Given the description of an element on the screen output the (x, y) to click on. 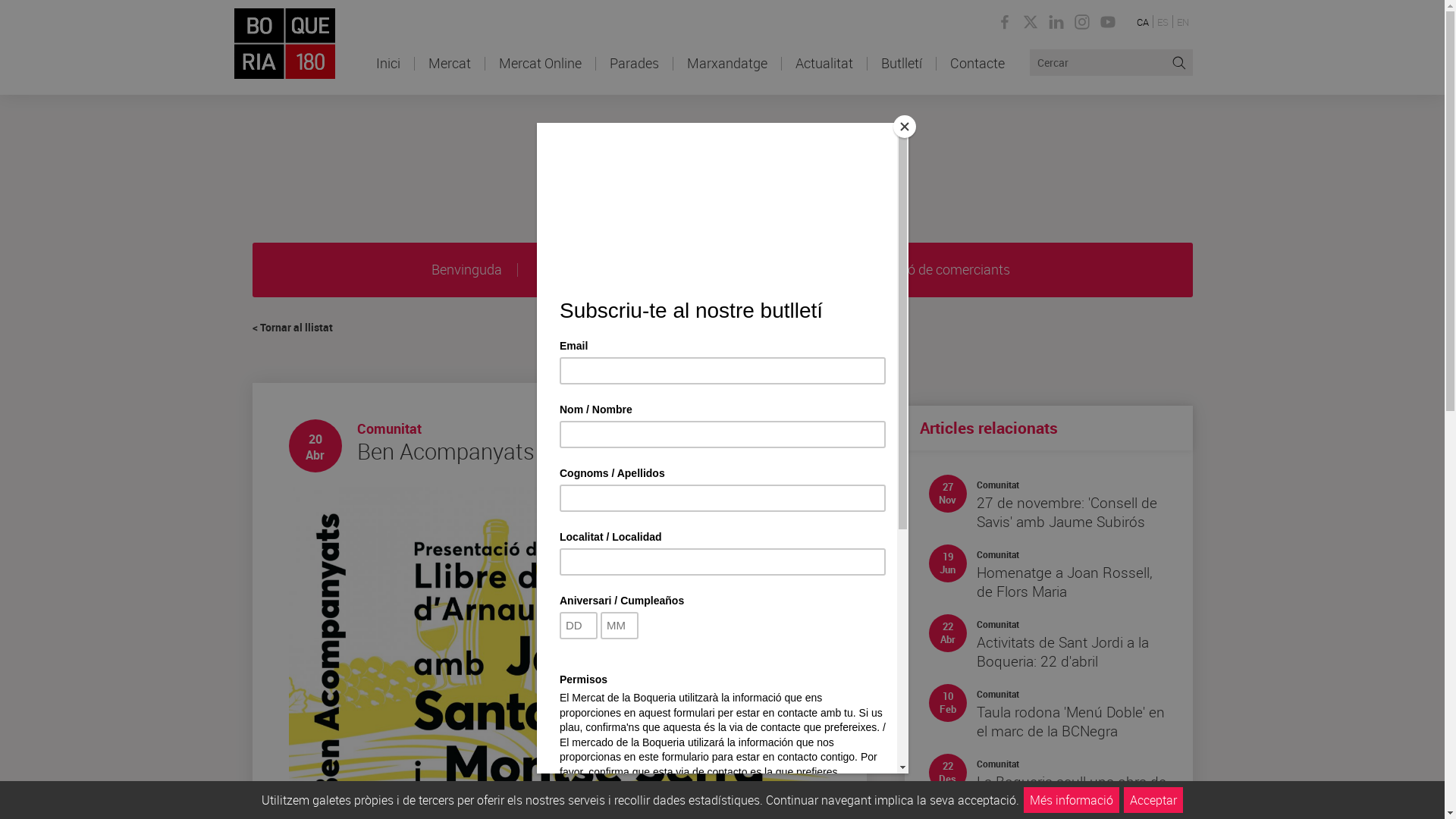
Inici Element type: text (388, 75)
Serveis del mercat Element type: text (589, 269)
Facebook de la Boqueria Element type: hover (1004, 24)
Linkedin de la Boqueria Element type: hover (1056, 24)
Comunitat Element type: text (997, 693)
Contacte Element type: text (976, 75)
Activitats de Sant Jordi a la Boqueria: 22 d'abril Element type: text (1062, 651)
Mercat Online Element type: text (540, 75)
Parades Element type: text (634, 75)
Activitats Element type: text (707, 269)
Comunitat Element type: text (997, 624)
< Tornar al llistat Element type: text (291, 327)
Marxandatge Element type: text (727, 75)
Twitter de la Boqueria Element type: hover (1030, 24)
Instagram de la Boqueria Element type: hover (1082, 24)
EN Element type: text (1182, 21)
Comunitat Element type: text (997, 484)
Mercat Element type: text (448, 75)
Youtube de la Boqueria Element type: hover (1107, 24)
Comunitat Element type: text (388, 428)
Homenatge a Joan Rossell, de Flors Maria Element type: text (1064, 581)
Benvinguda Element type: text (465, 269)
El mercat de Barcelona Element type: hover (284, 43)
Comunitat Element type: text (997, 554)
Comunitat Element type: text (997, 763)
Actualitat Element type: text (823, 75)
ES Element type: text (1161, 21)
